Given the description of an element on the screen output the (x, y) to click on. 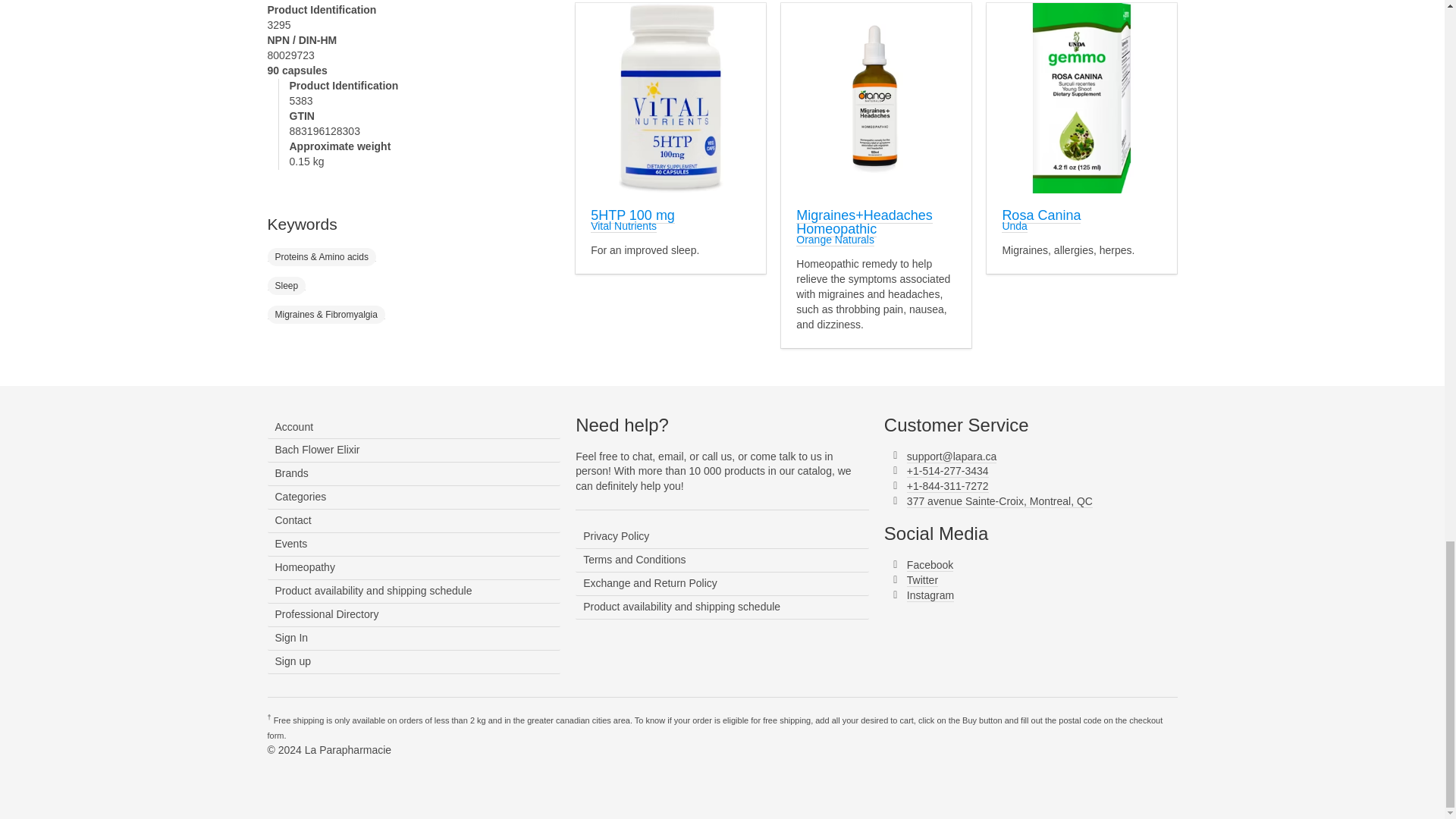
Sleep (285, 283)
Vital Nutrients (623, 226)
5HTP 100 mg (633, 215)
